Given the description of an element on the screen output the (x, y) to click on. 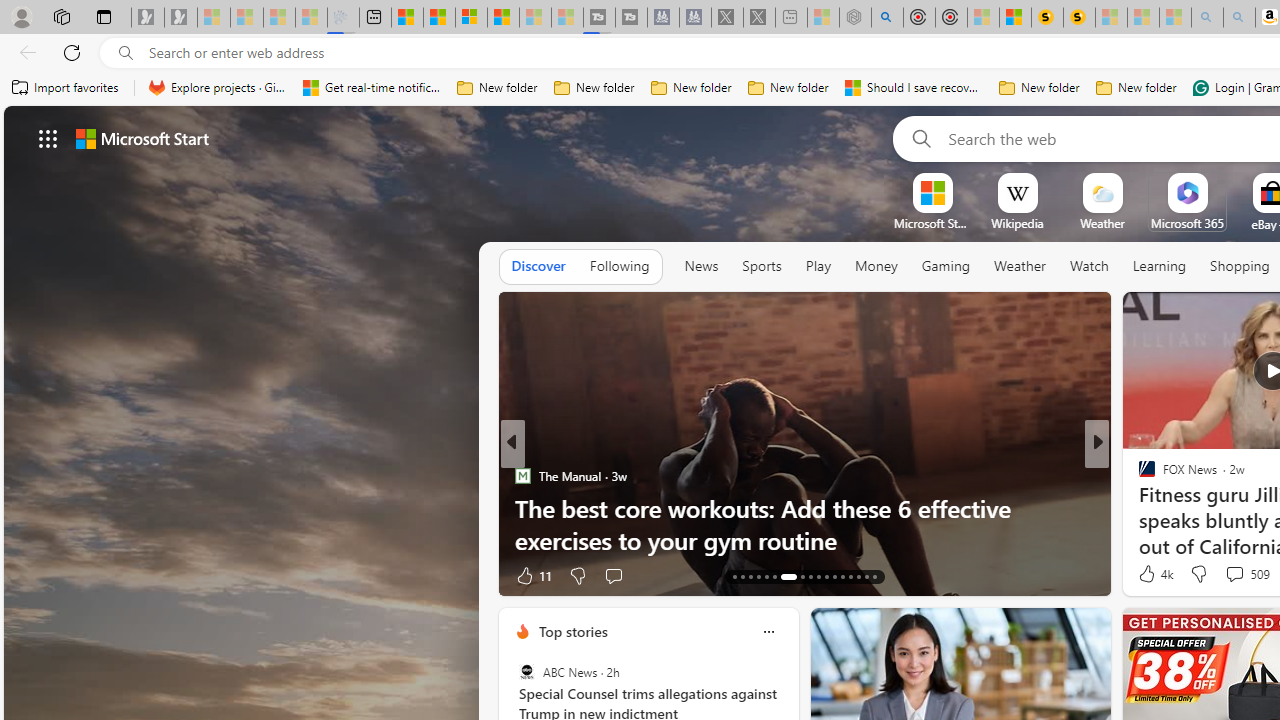
Wikipedia (1017, 223)
ABC News (526, 672)
Play (817, 265)
AutomationID: tab-23 (825, 576)
Newsletter Sign Up - Sleeping (181, 17)
View comments 8 Comment (1234, 575)
Money (876, 267)
AutomationID: tab-14 (742, 576)
View comments 9 Comment (1234, 575)
Microsoft 365 (1186, 223)
Discover Magazine (1138, 475)
Weather (1020, 265)
